Given the description of an element on the screen output the (x, y) to click on. 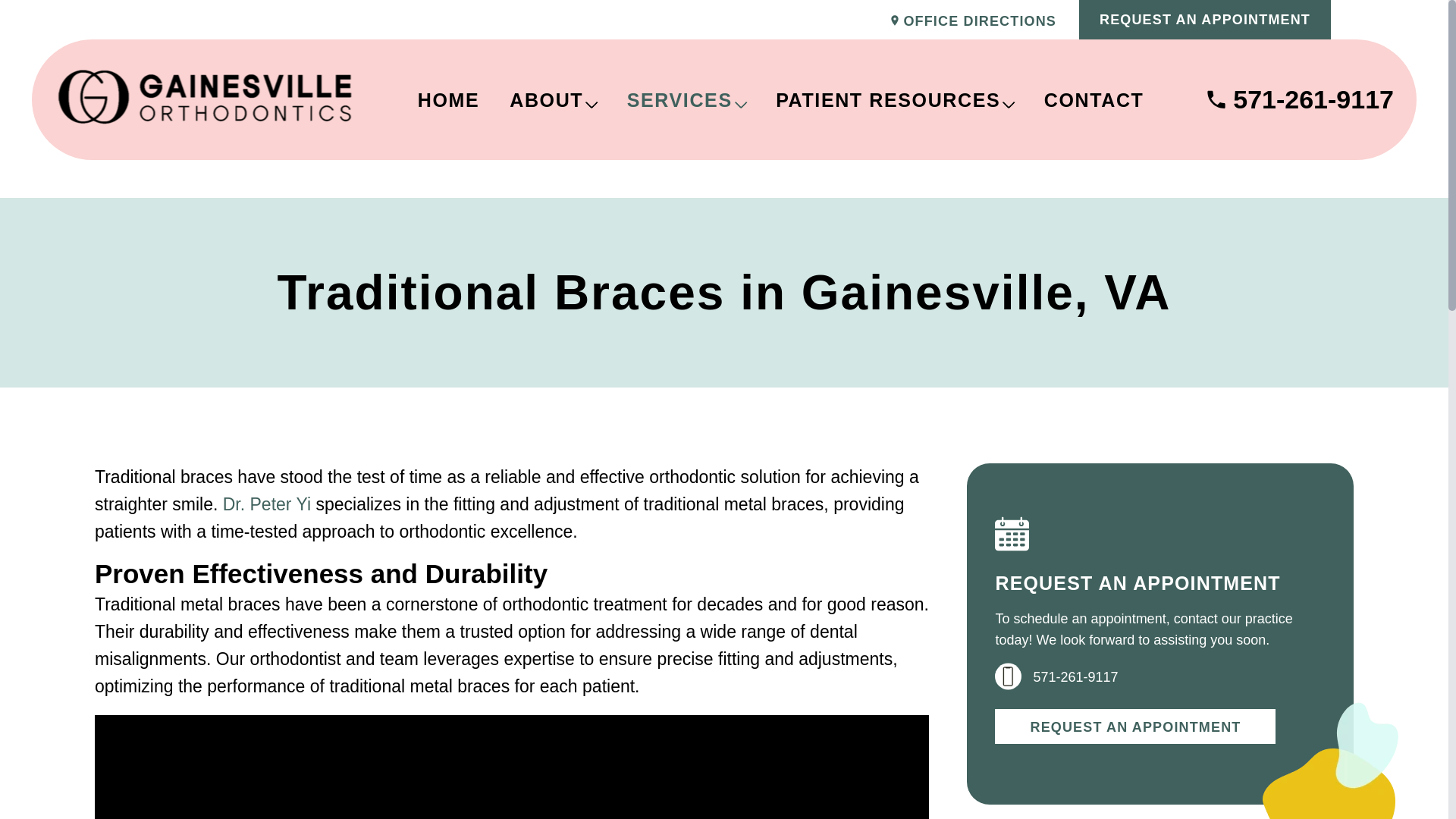
REQUEST AN APPOINTMENT (1204, 19)
OFFICE DIRECTIONS (974, 20)
HOME (449, 98)
